Given the description of an element on the screen output the (x, y) to click on. 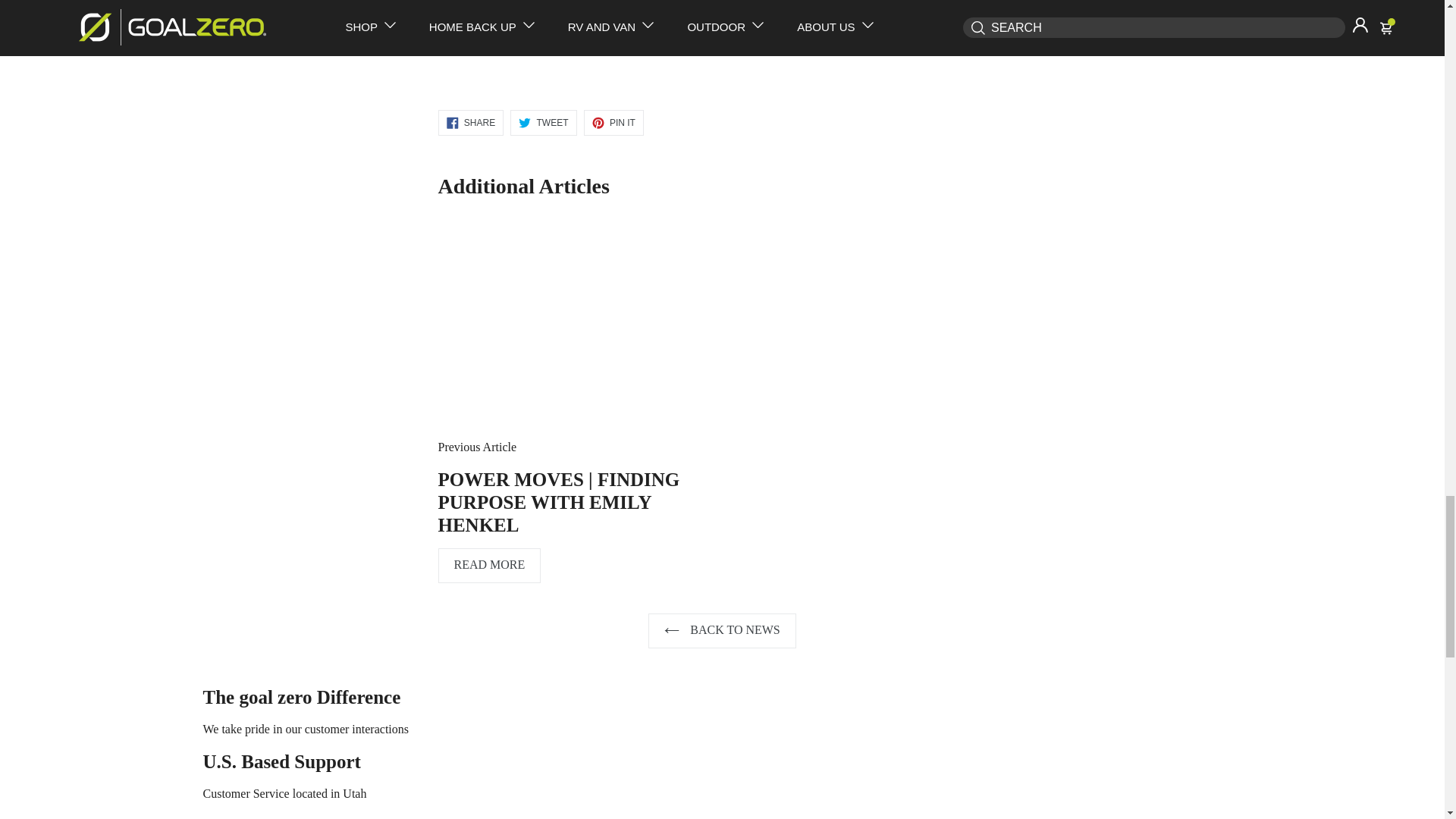
Share on Facebook (470, 122)
Tweet on Twitter (543, 122)
Pin on Pinterest (613, 122)
